Given the description of an element on the screen output the (x, y) to click on. 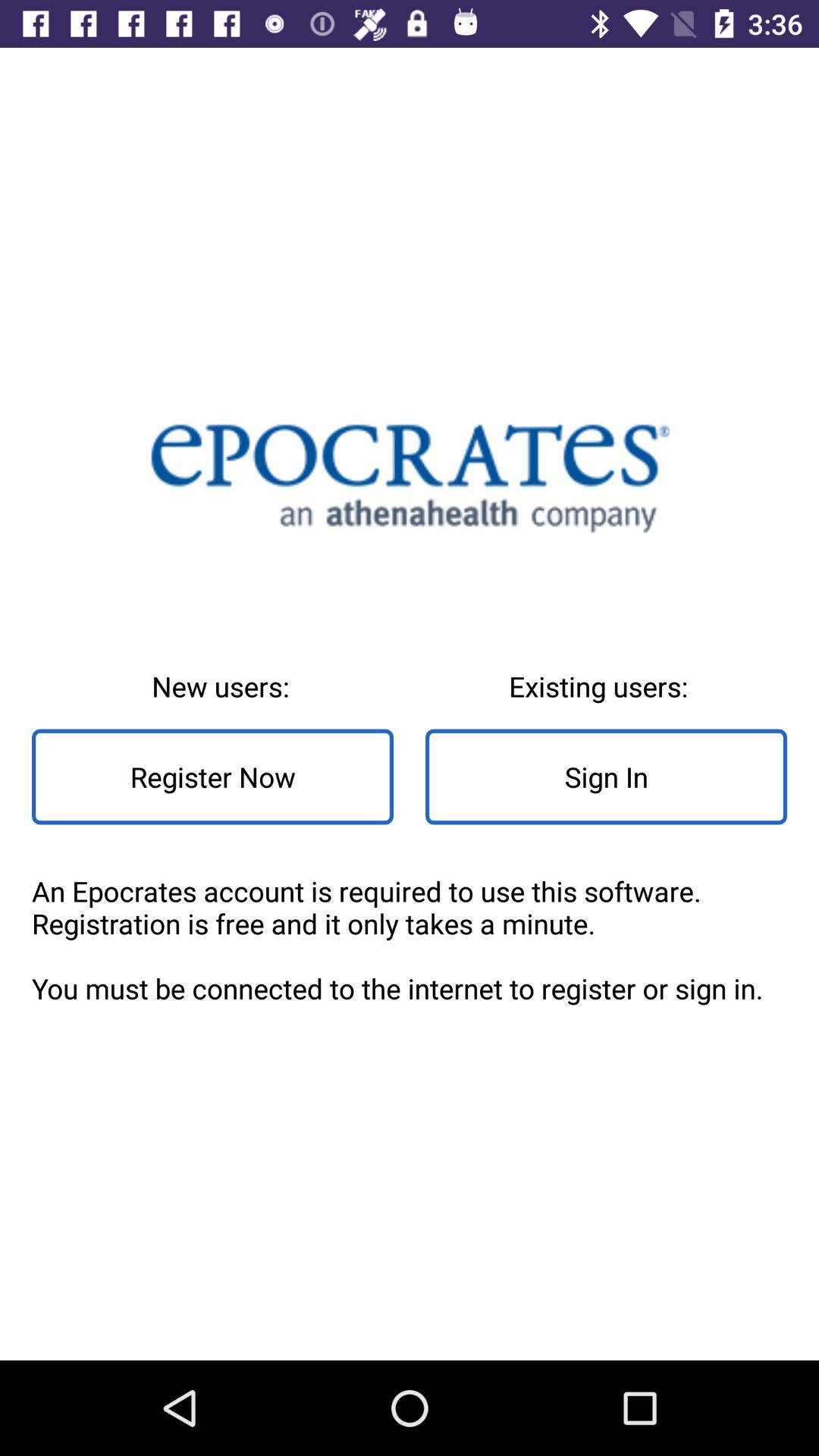
choose sign in item (606, 776)
